Given the description of an element on the screen output the (x, y) to click on. 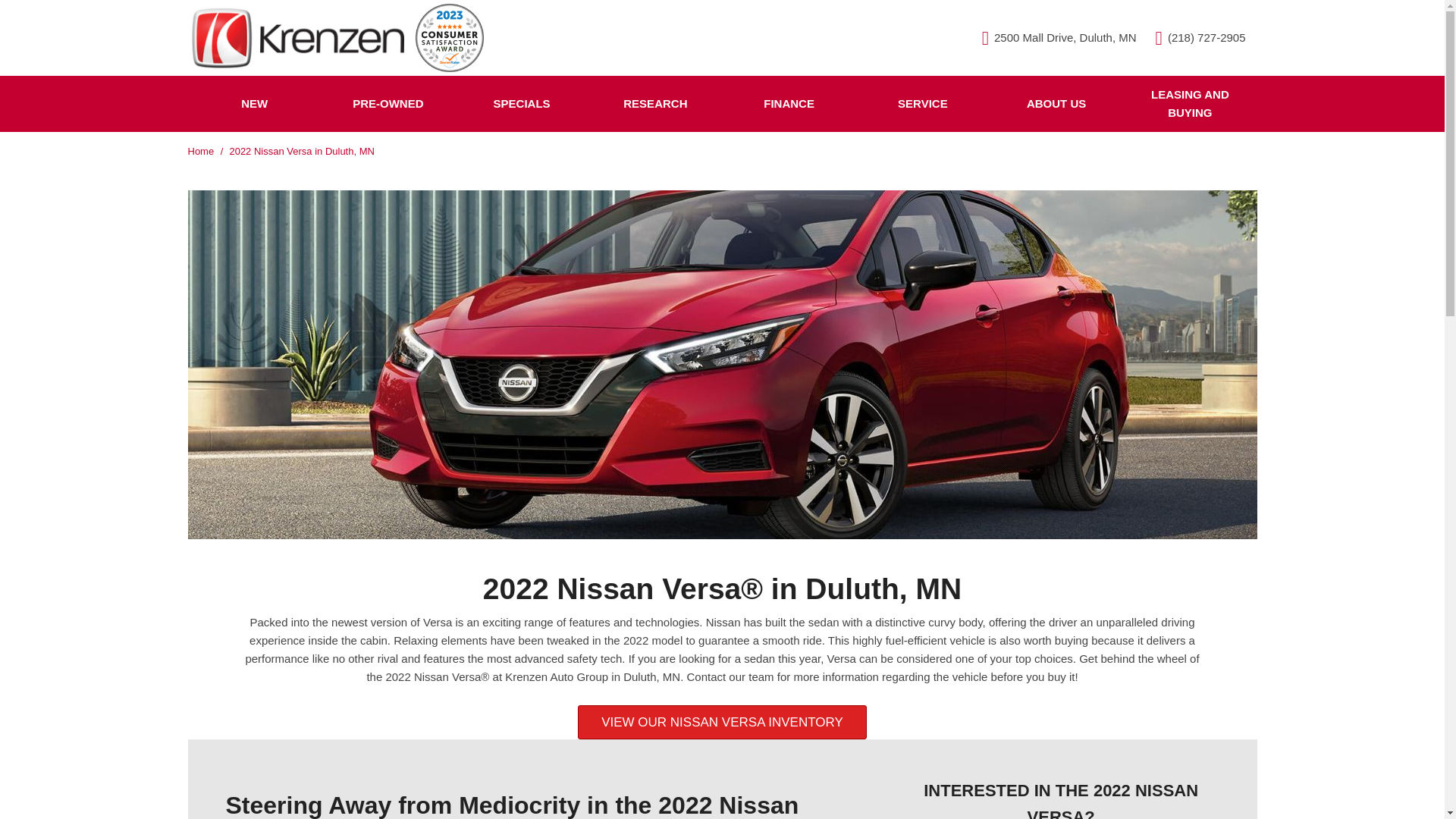
Krenzen (448, 38)
2500 Mall Drive, Duluth, MN (1059, 37)
Honda, Lincoln, Nissan (295, 37)
NEW (254, 103)
PRE-OWNED (387, 103)
